Given the description of an element on the screen output the (x, y) to click on. 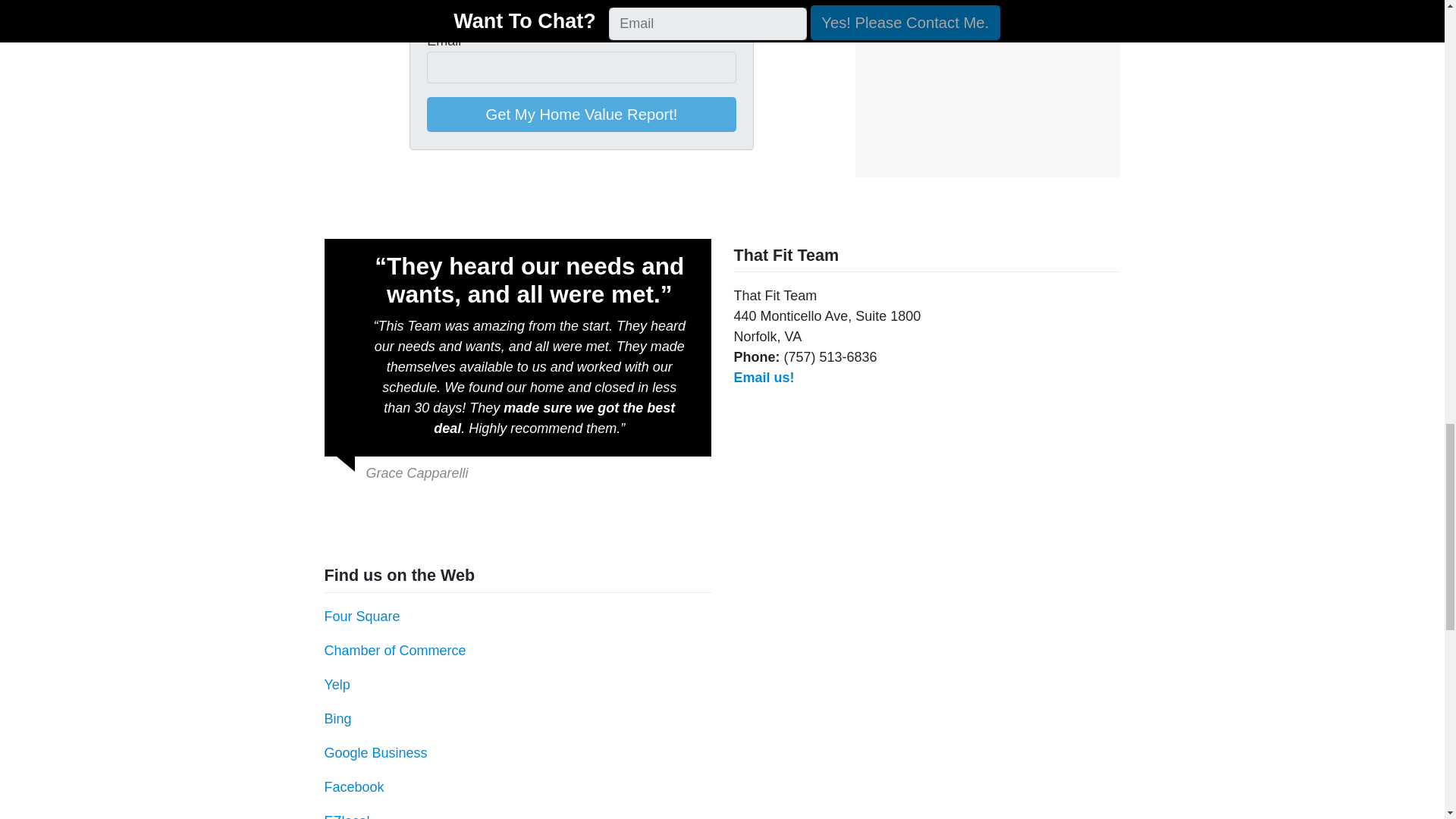
Chamber of Commerce (394, 650)
Four Square (362, 616)
Get My Home Value Report! (580, 114)
Get My Home Value Report! (580, 114)
Yelp (337, 684)
